Given the description of an element on the screen output the (x, y) to click on. 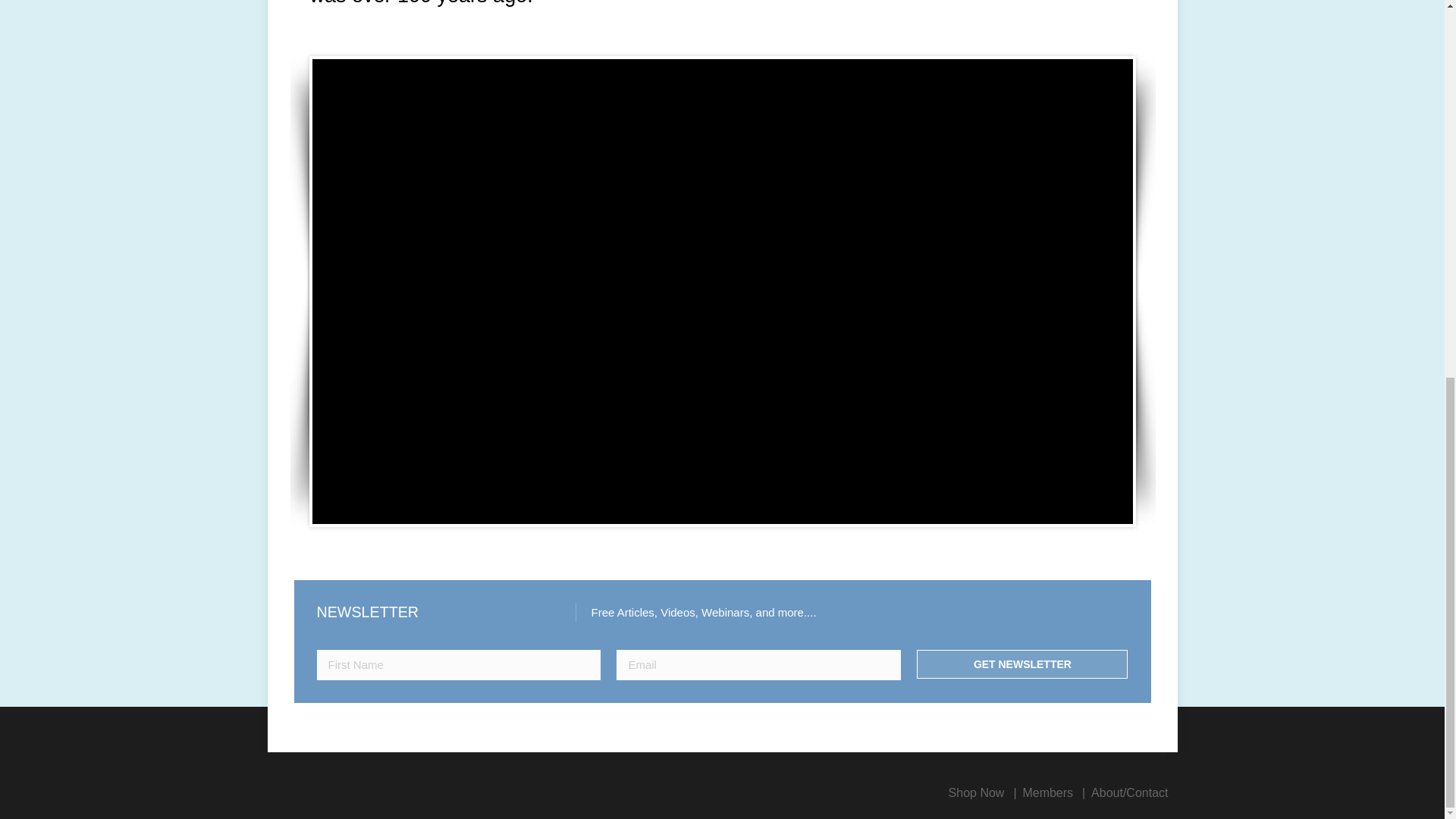
Shop Now (976, 792)
Get Newsletter (1021, 663)
Members (1047, 792)
Get Newsletter (1021, 663)
